Given the description of an element on the screen output the (x, y) to click on. 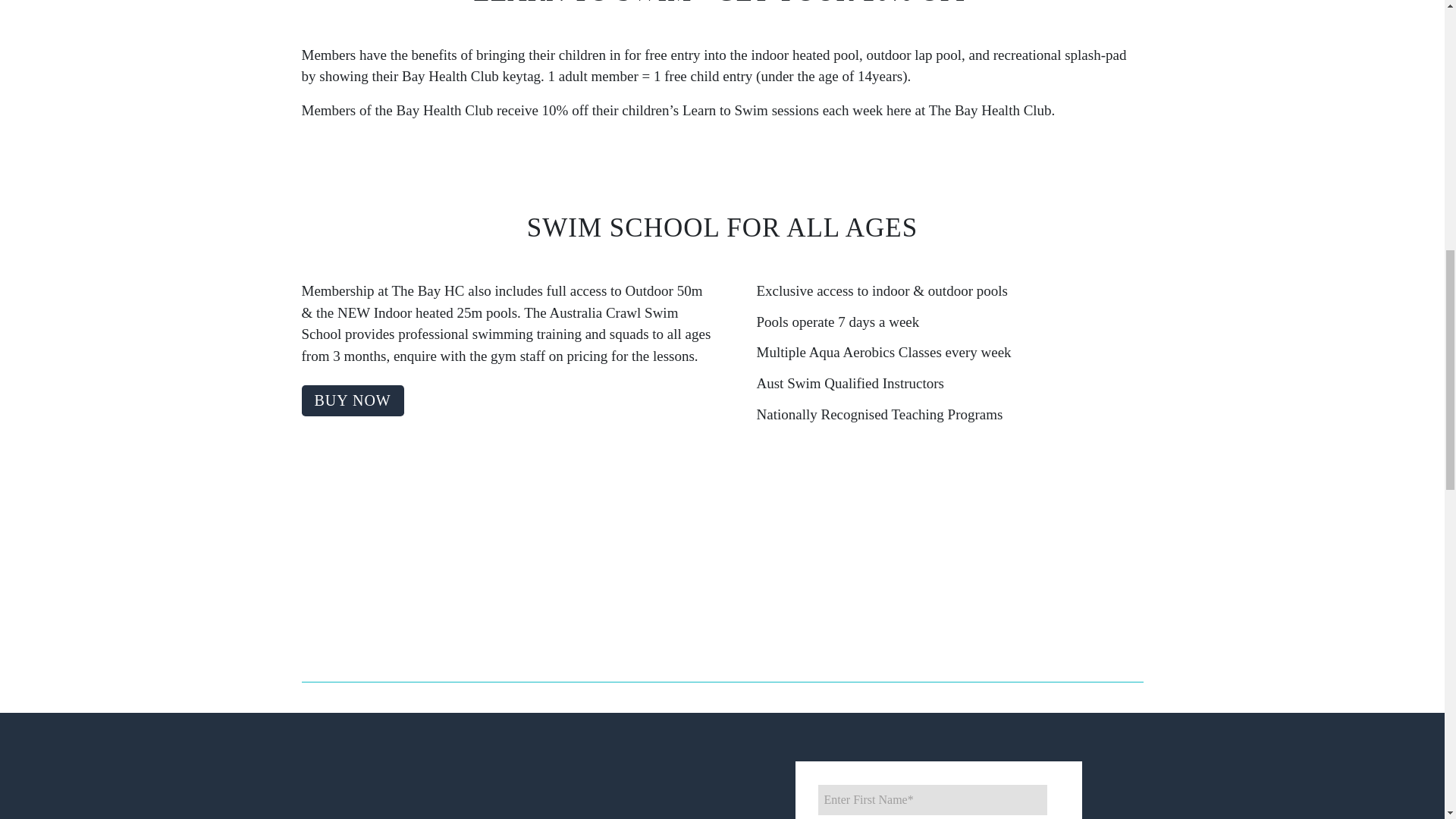
BUY NOW (352, 400)
